Given the description of an element on the screen output the (x, y) to click on. 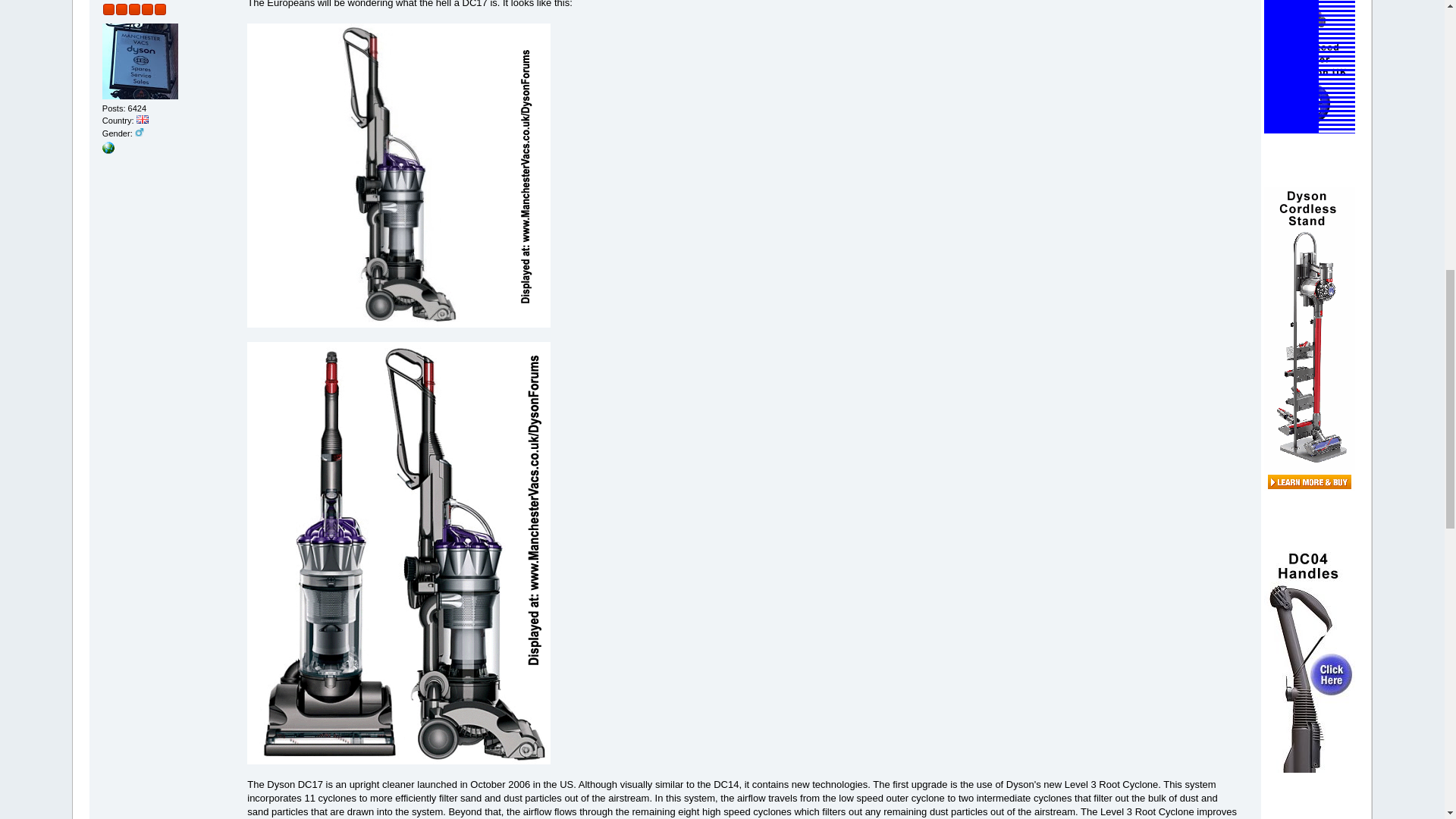
United Kingdom (142, 119)
Manchester Vacs - The Independent Dyson Specialists (108, 150)
